Given the description of an element on the screen output the (x, y) to click on. 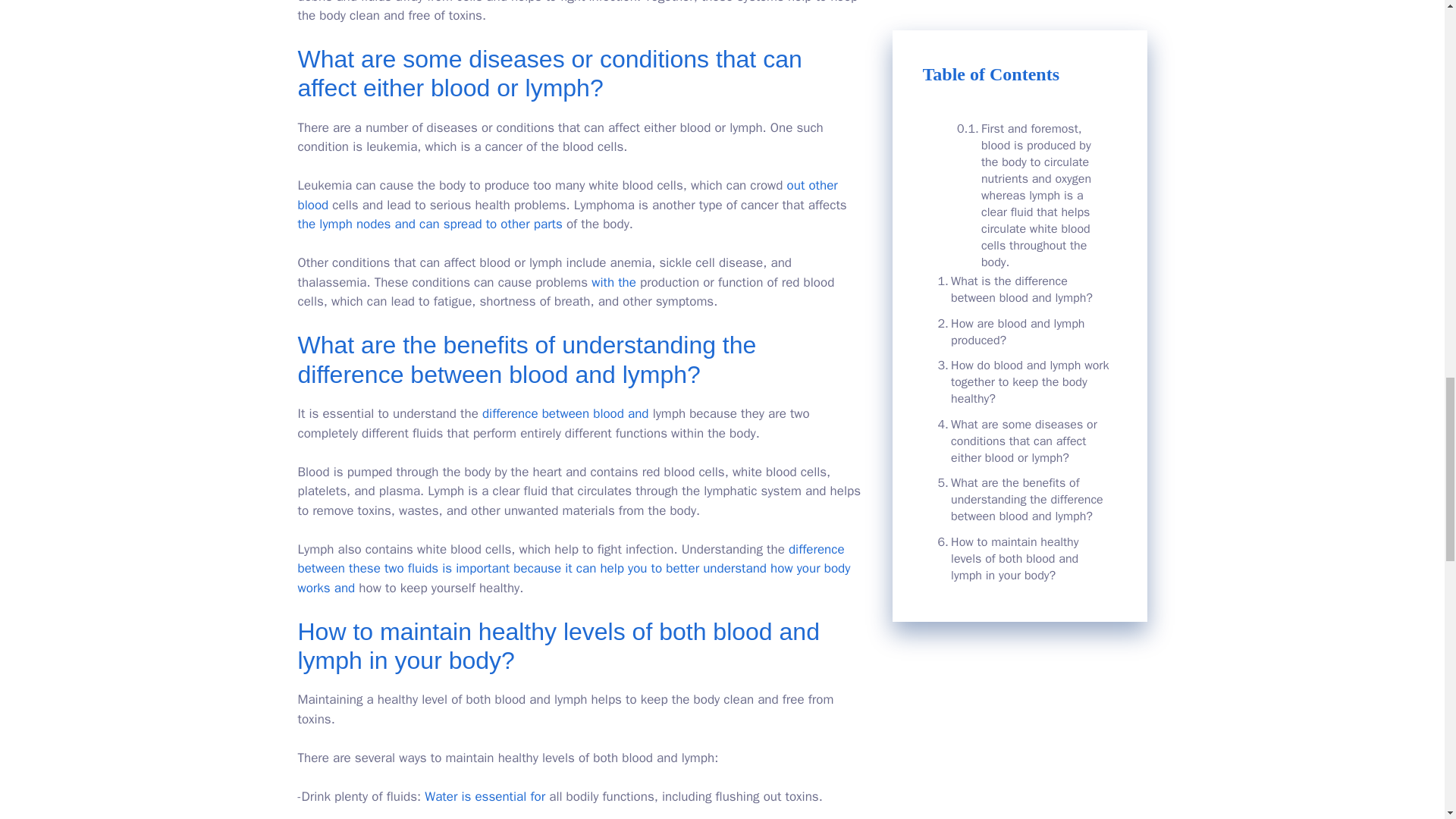
the lymph nodes and can spread to other parts (429, 223)
Water is essential for (484, 796)
difference between blood and (565, 413)
out other blood (567, 194)
with the (613, 282)
